Given the description of an element on the screen output the (x, y) to click on. 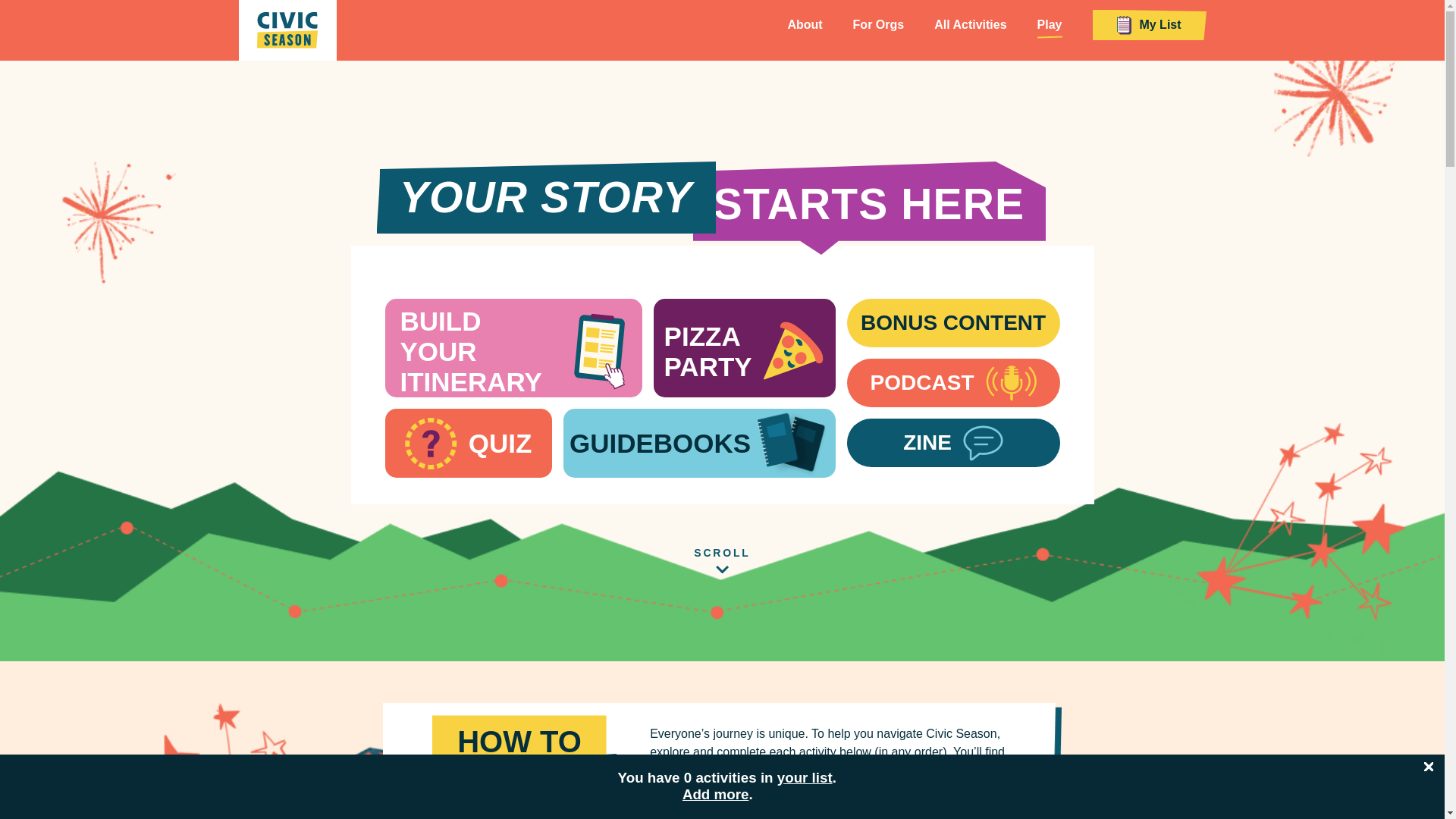
ZINE (953, 442)
BONUS CONTENT (953, 322)
For Orgs (878, 24)
About (804, 24)
All Activities (970, 24)
PODCAST (953, 382)
Play (1049, 24)
My List (1148, 27)
BUILD YOUR ITINERARY (513, 347)
SCROLL (722, 552)
